Given the description of an element on the screen output the (x, y) to click on. 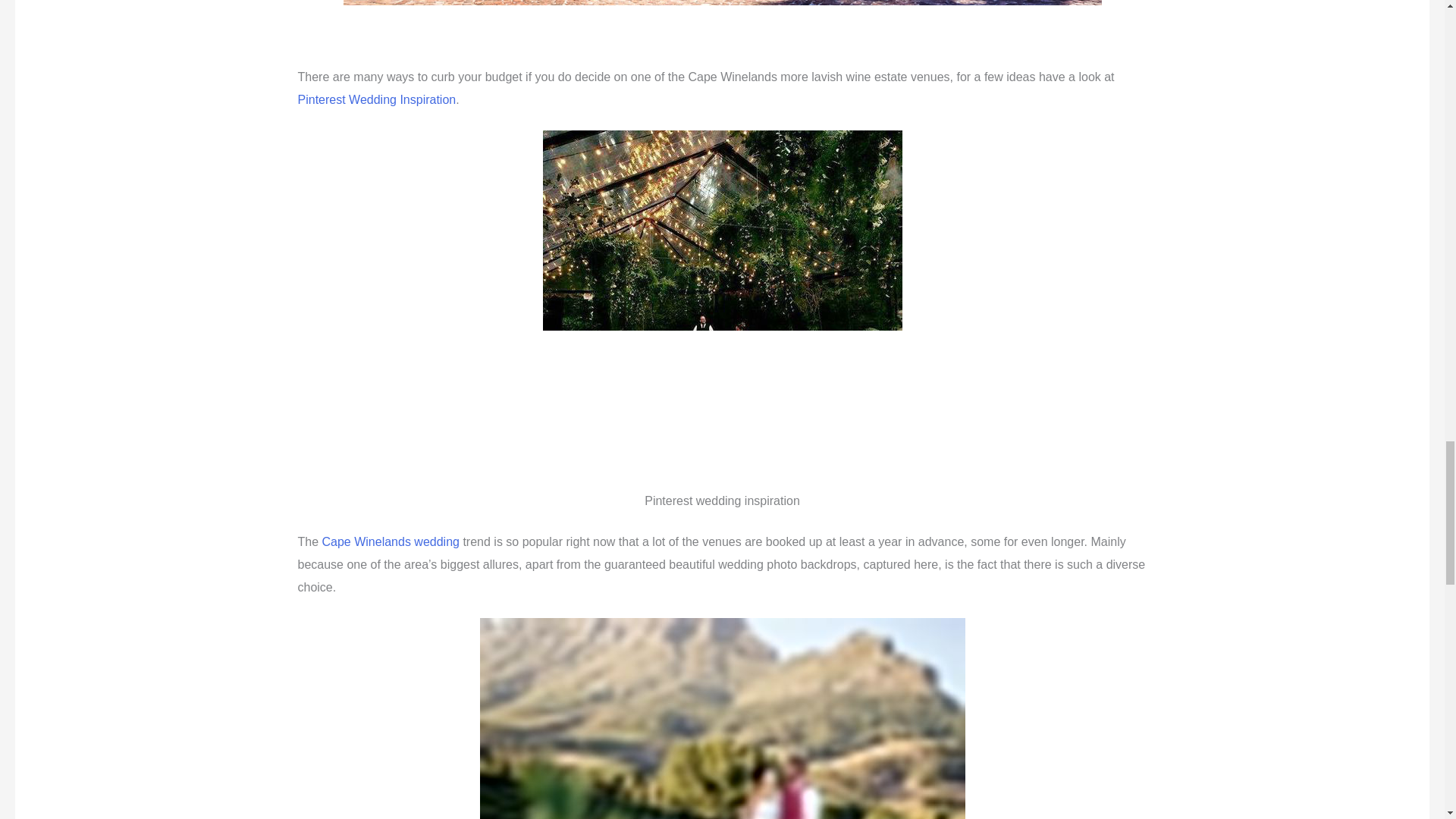
Wedding Inspiration (376, 99)
Pinterest Wedding Inspiration (376, 99)
Cape Winelands wedding (390, 541)
